Given the description of an element on the screen output the (x, y) to click on. 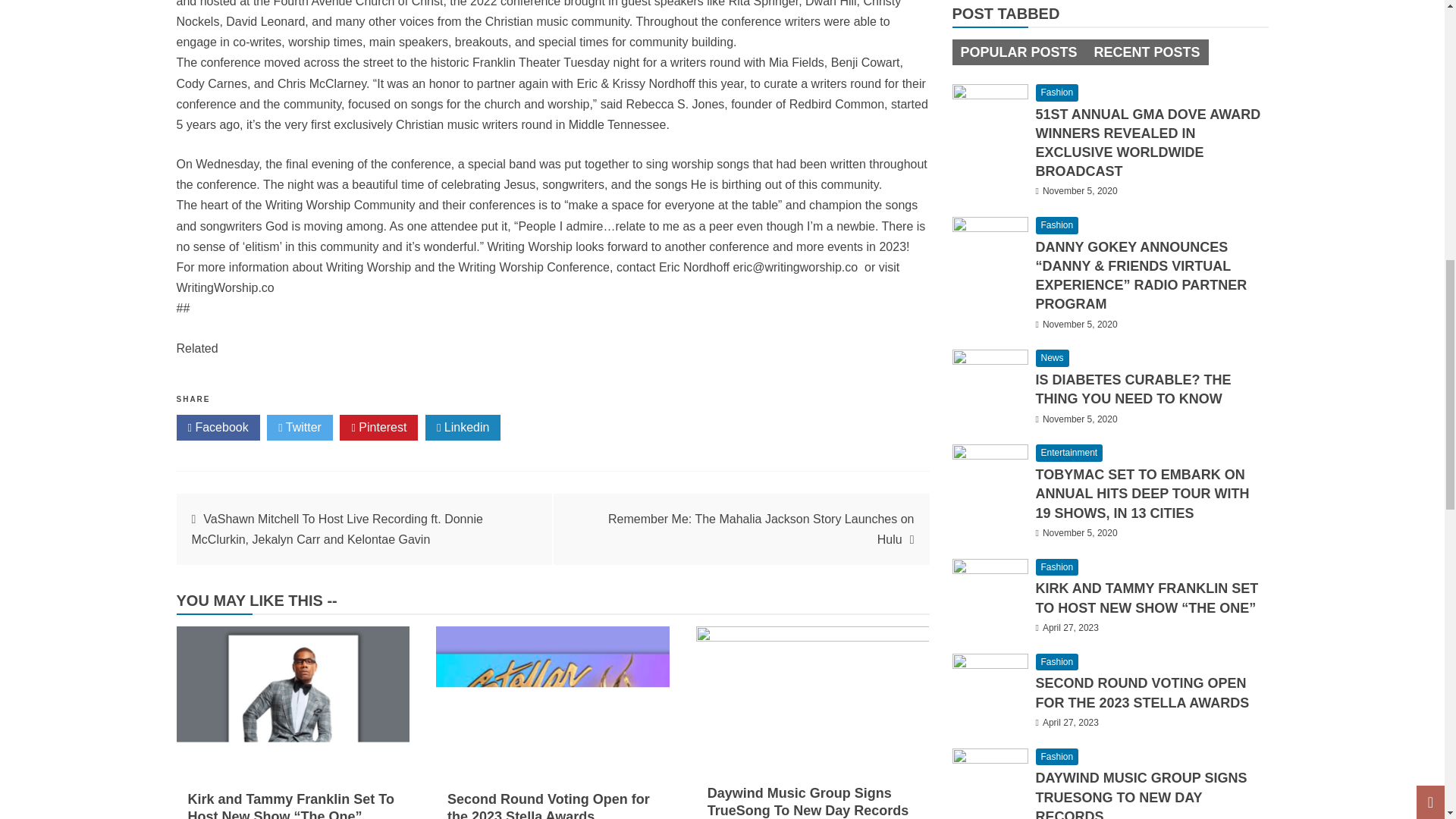
Remember Me: The Mahalia Jackson Story Launches on Hulu (761, 529)
Daywind Music Group Signs TrueSong To New Day Records (807, 801)
Twitter (299, 427)
Second Round Voting Open for the 2023 Stella Awards (547, 805)
Linkedin (462, 427)
Pinterest (378, 427)
Facebook (217, 427)
